Given the description of an element on the screen output the (x, y) to click on. 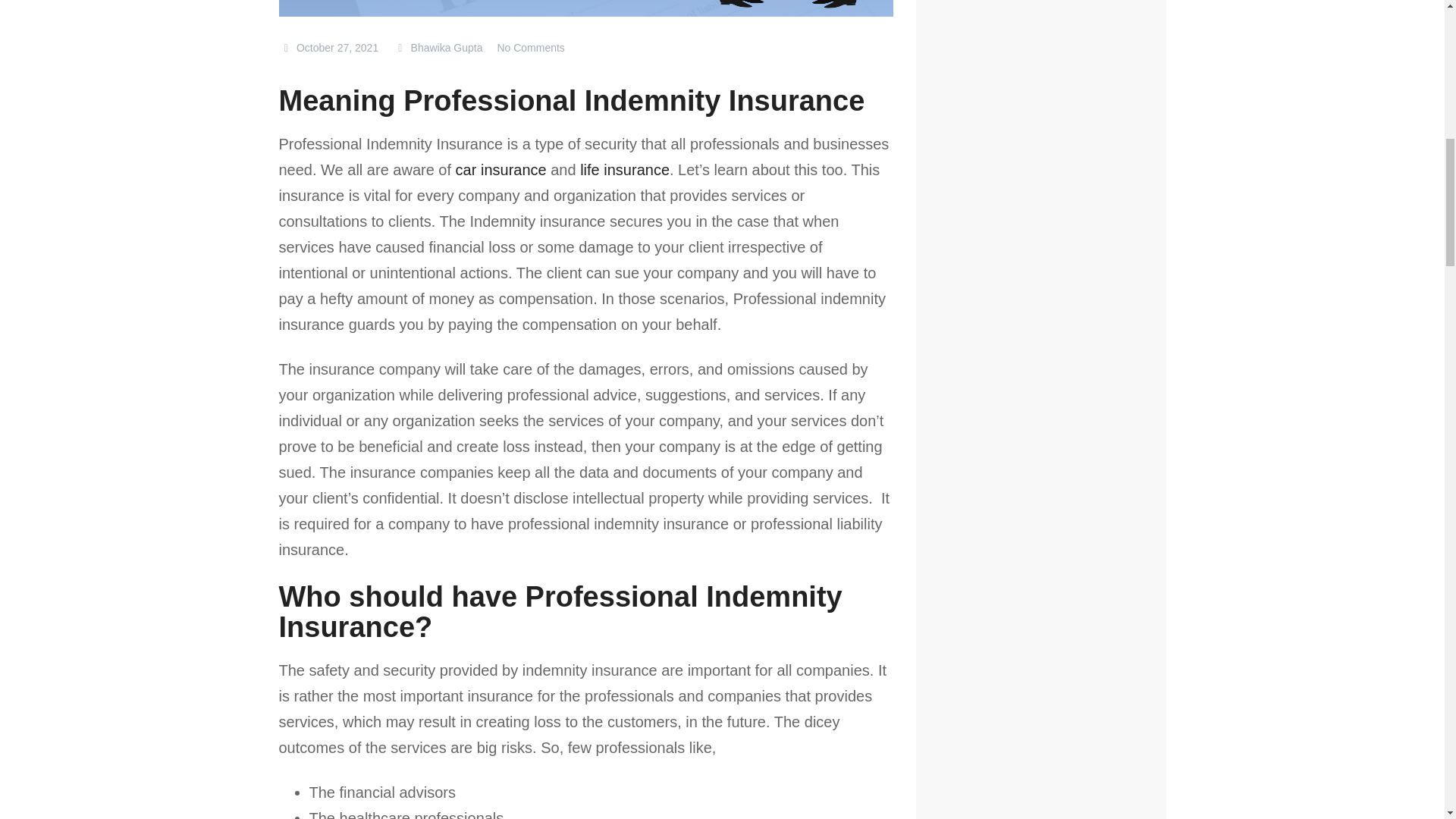
life insurance (624, 169)
Posted by Bhawika Gupta (437, 47)
car insurance (501, 169)
October 27, 2021 (328, 47)
Bhawika Gupta (437, 47)
